Given the description of an element on the screen output the (x, y) to click on. 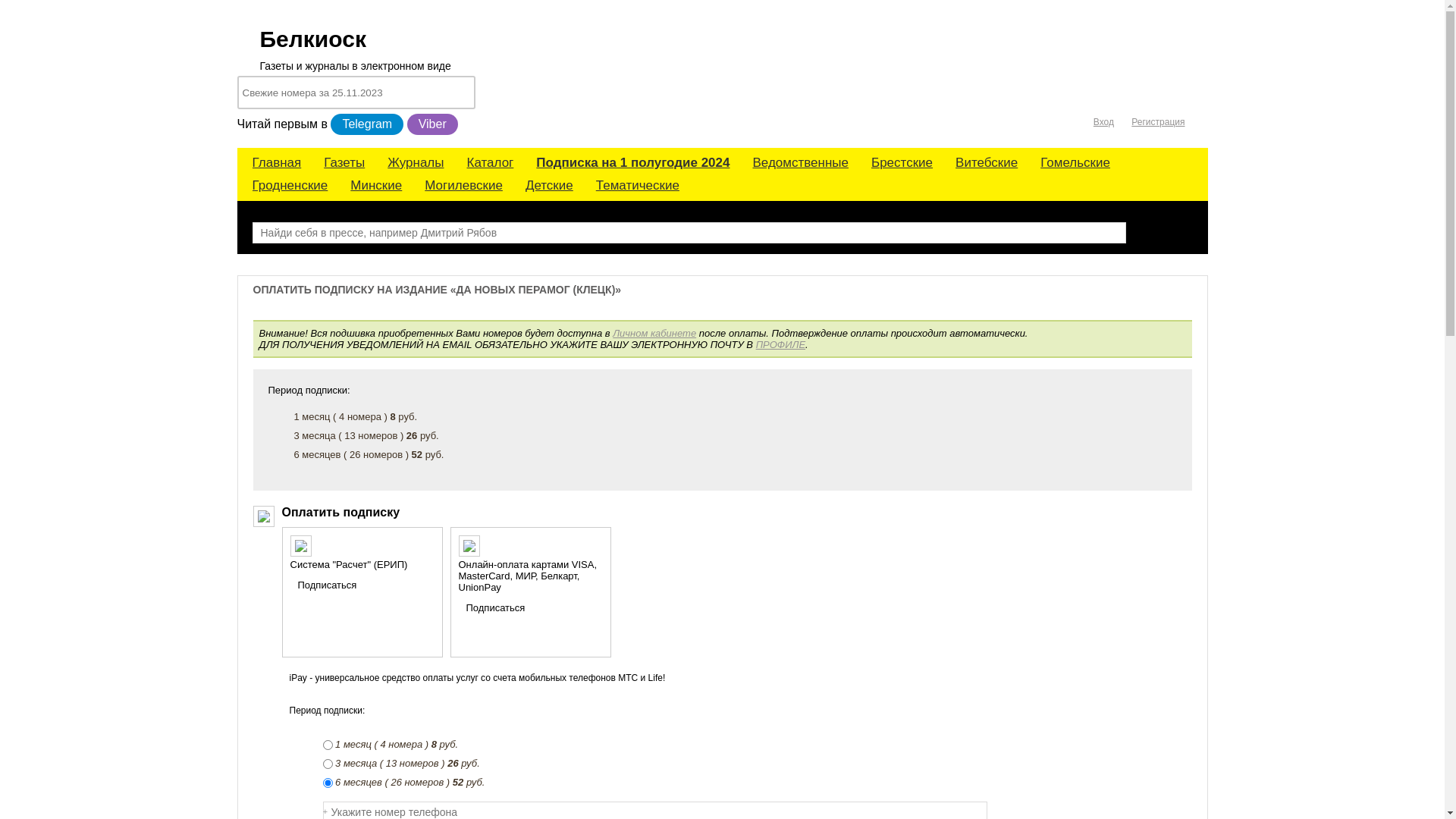
Viber Element type: text (432, 123)
Telegram Element type: text (366, 123)
